Given the description of an element on the screen output the (x, y) to click on. 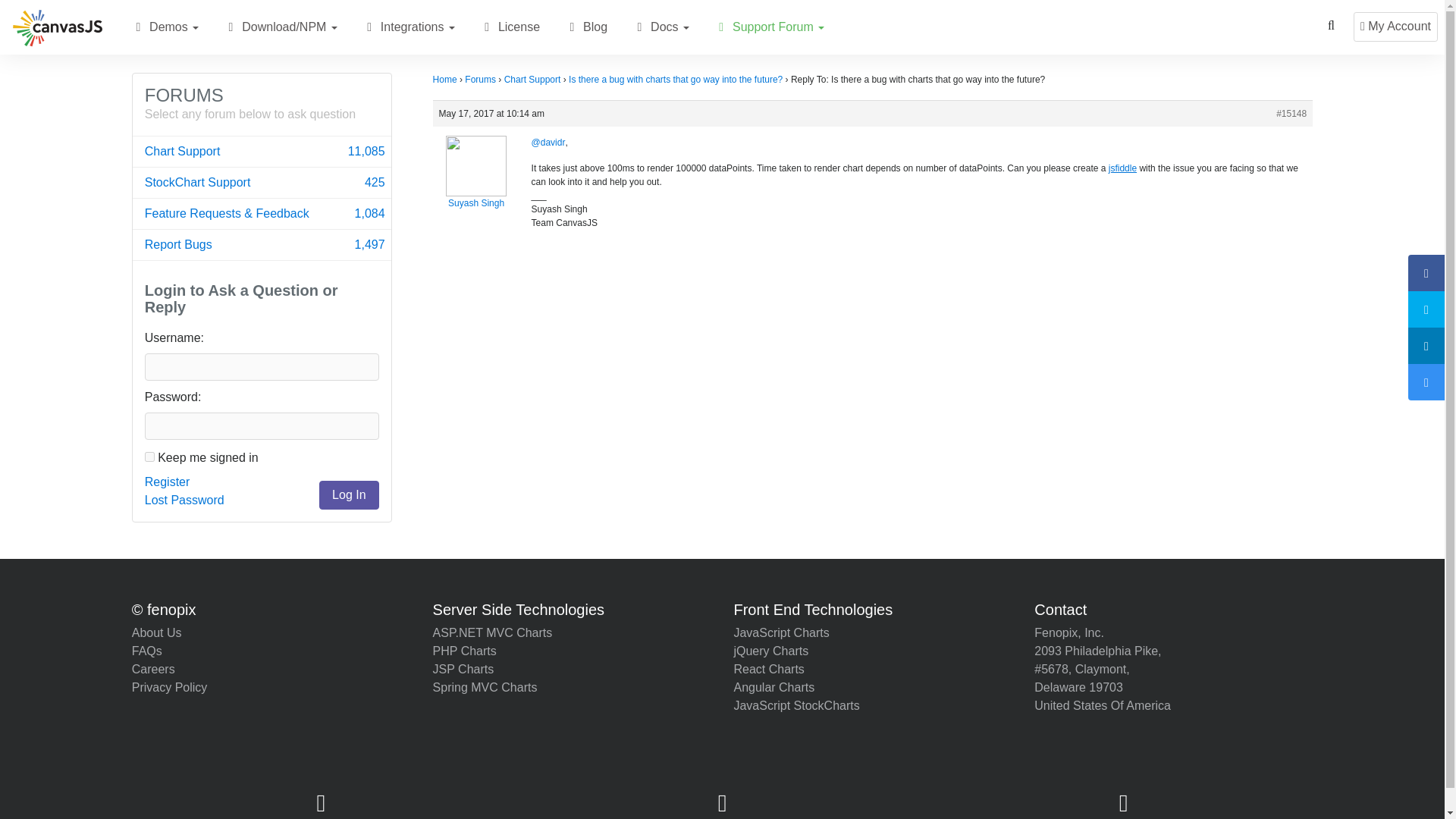
Integrations (369, 27)
Demos (171, 27)
CanvasJS (57, 26)
License (487, 27)
Chart Demos (139, 27)
Docs (660, 27)
Blog (261, 245)
Lost Password (585, 27)
Docs (184, 500)
